Given the description of an element on the screen output the (x, y) to click on. 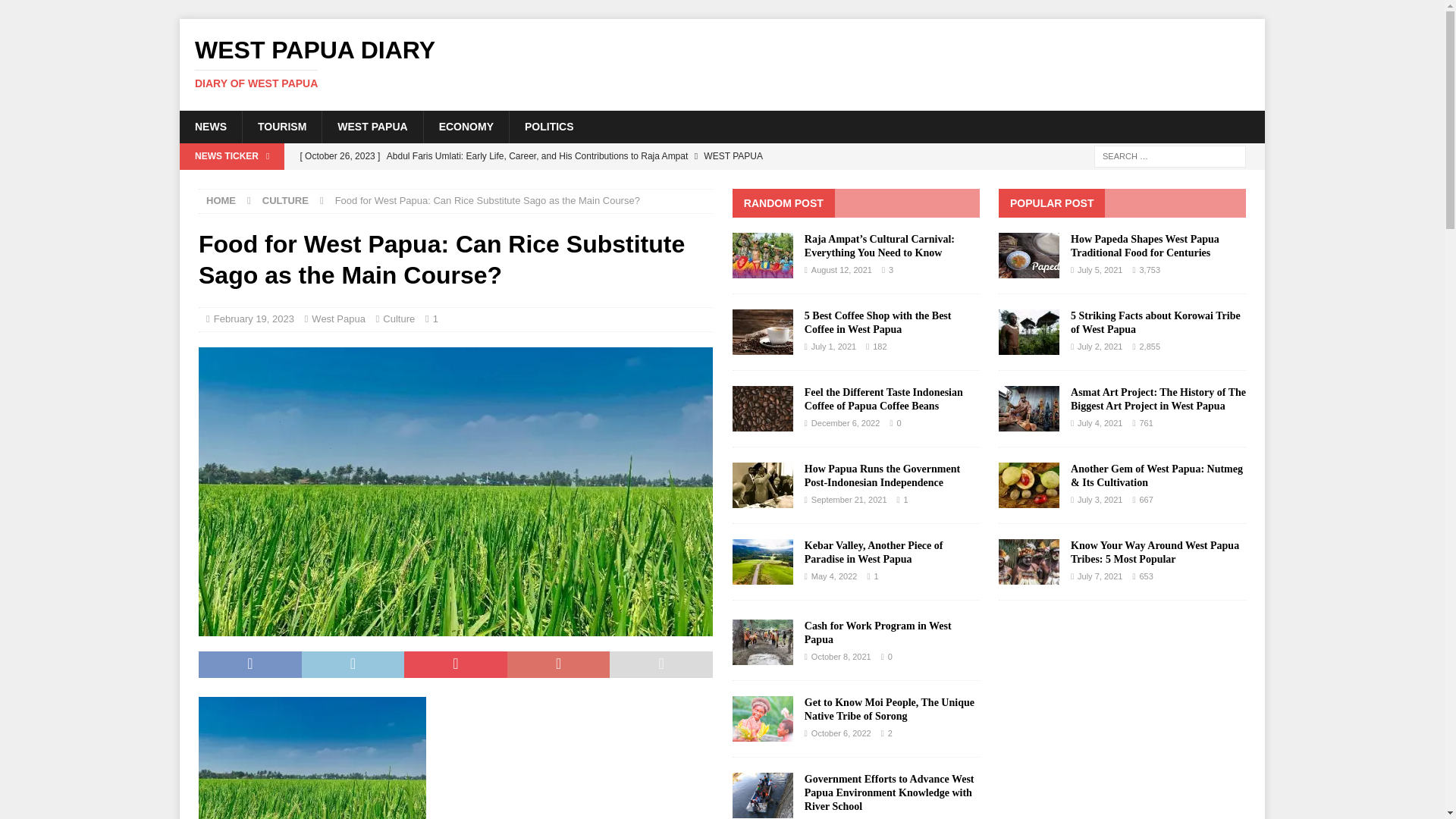
ECONOMY (465, 126)
West Papua (338, 318)
Get to Know the Various West Papua Birth Rituals (722, 63)
February 19, 2023 (589, 181)
WEST PAPUA (254, 318)
Culture (371, 126)
West Papua Diary (398, 318)
NEWS (722, 63)
HOME (210, 126)
Food for West Papua (220, 200)
CULTURE (548, 126)
Search (285, 200)
TOURISM (56, 11)
